Given the description of an element on the screen output the (x, y) to click on. 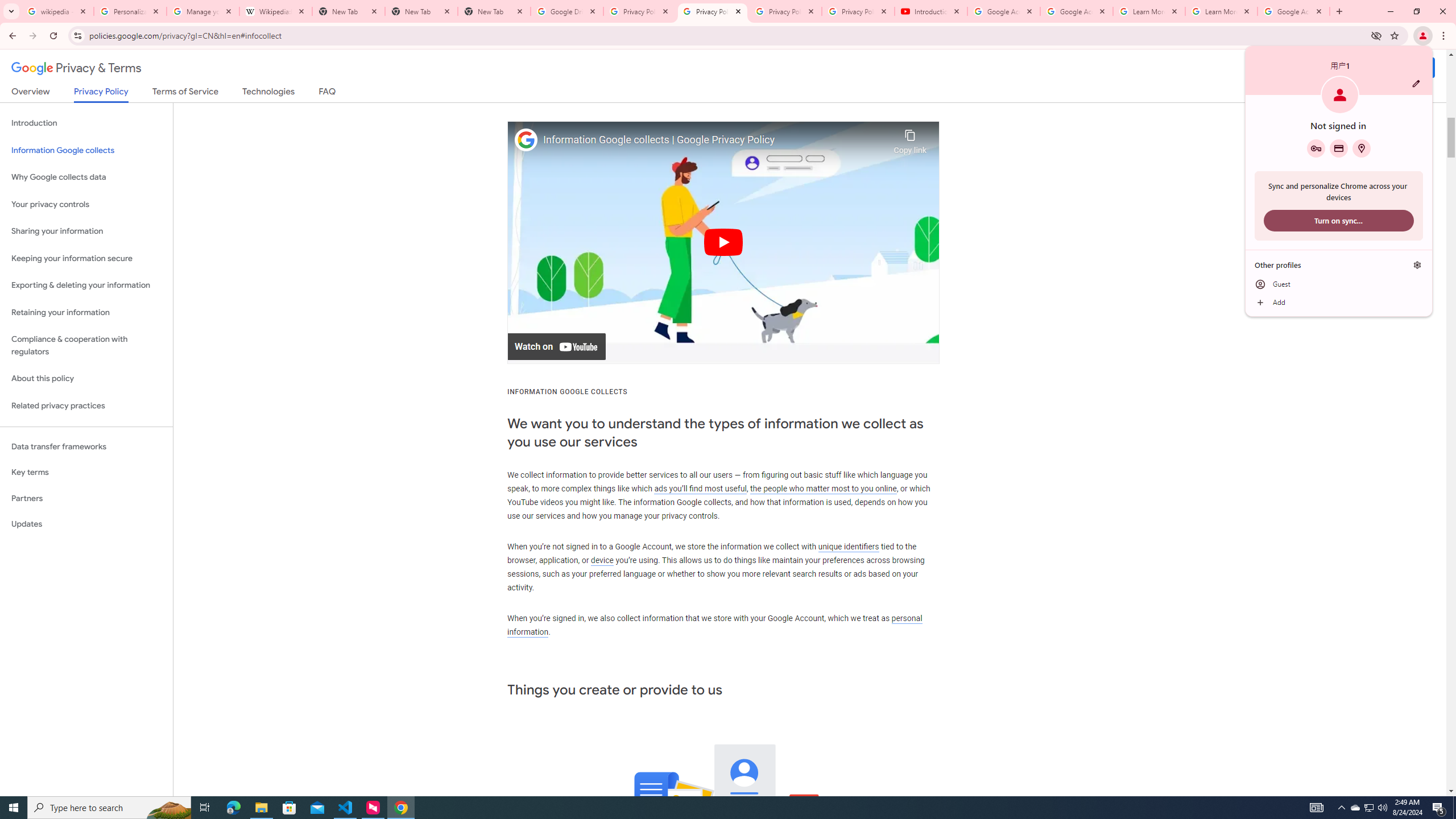
Information Google collects (86, 150)
Addresses and more (1361, 148)
Show desktop (1454, 807)
Compliance & cooperation with regulators (86, 345)
Exporting & deleting your information (86, 284)
Visual Studio Code - 1 running window (345, 807)
Sharing your information (86, 230)
Play (1368, 807)
